Given the description of an element on the screen output the (x, y) to click on. 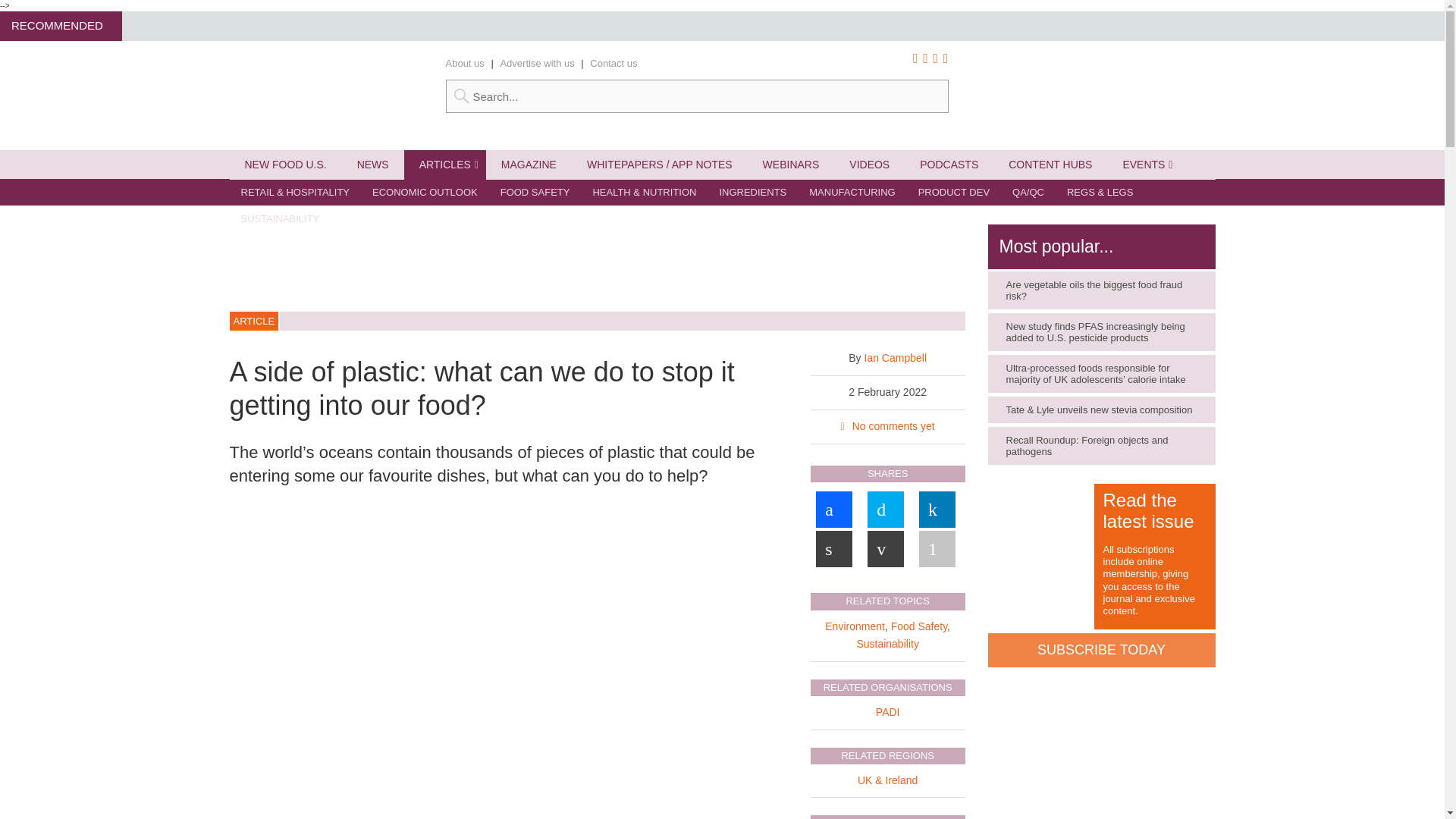
About us (464, 62)
SUSTAINABILITY (279, 218)
NEW FOOD U.S. (284, 164)
EVENTS (1142, 164)
CONTENT HUBS (1049, 164)
ARTICLES (445, 164)
VIDEOS (869, 164)
INGREDIENTS (752, 192)
WEBINARS (791, 164)
NEWS (373, 164)
Contact us (613, 62)
ECONOMIC OUTLOOK (425, 192)
PRODUCT DEV (954, 192)
Search (697, 96)
FOOD SAFETY (534, 192)
